Given the description of an element on the screen output the (x, y) to click on. 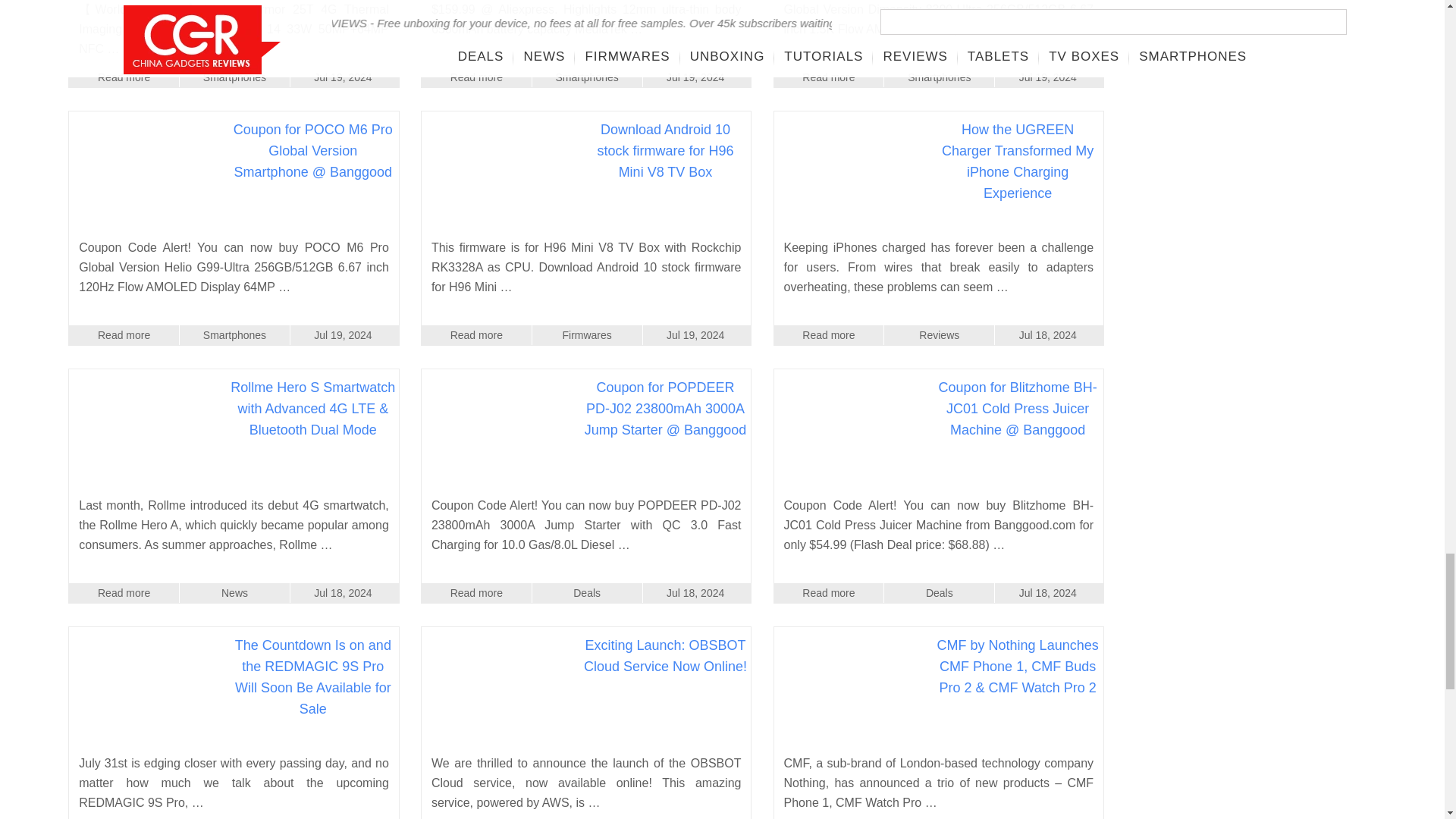
Read more (123, 76)
Smartphones (938, 76)
Smartphones (234, 76)
Read more (476, 76)
Smartphones (587, 76)
Read more (828, 76)
